Given the description of an element on the screen output the (x, y) to click on. 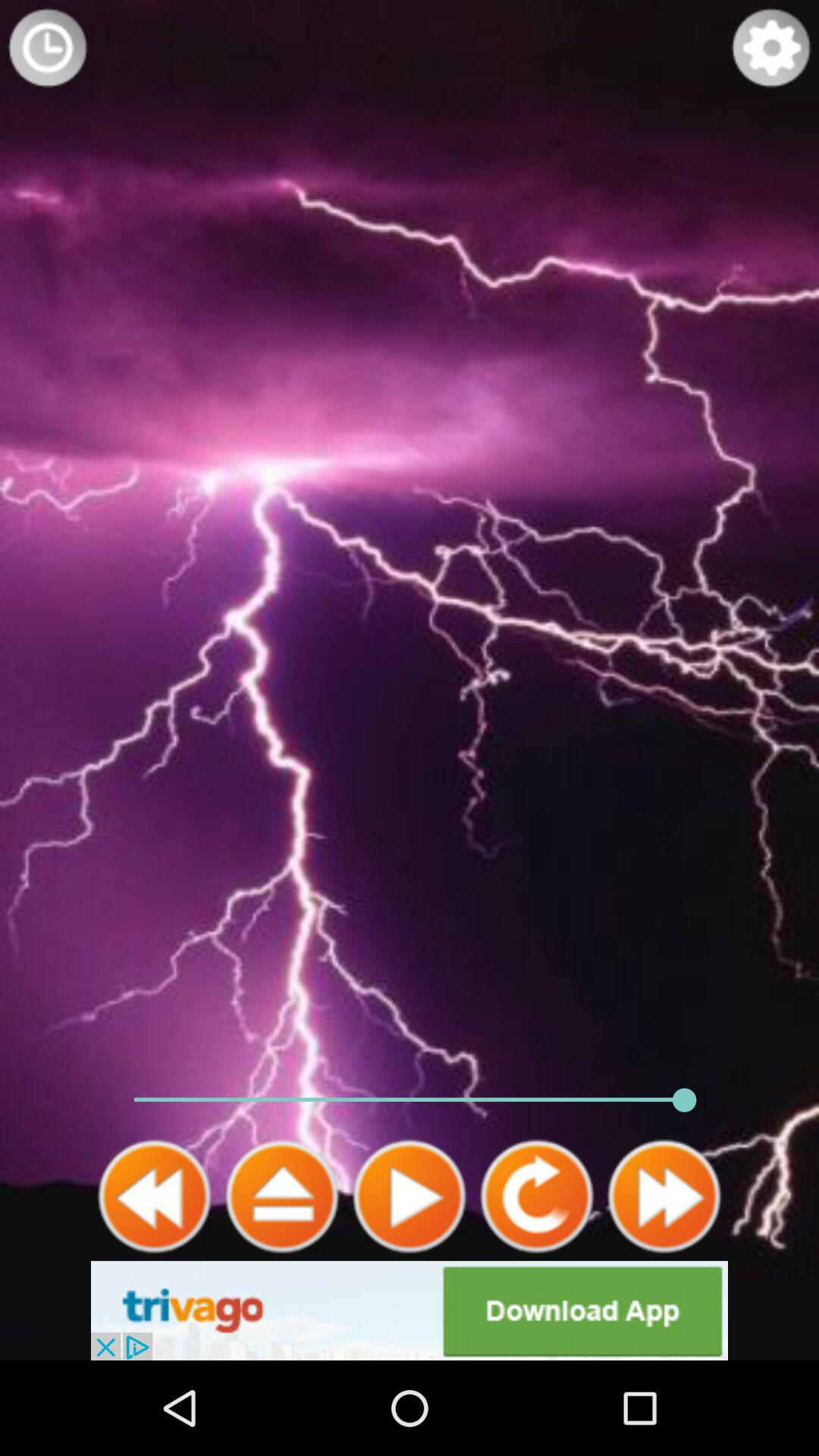
time display (47, 47)
